Given the description of an element on the screen output the (x, y) to click on. 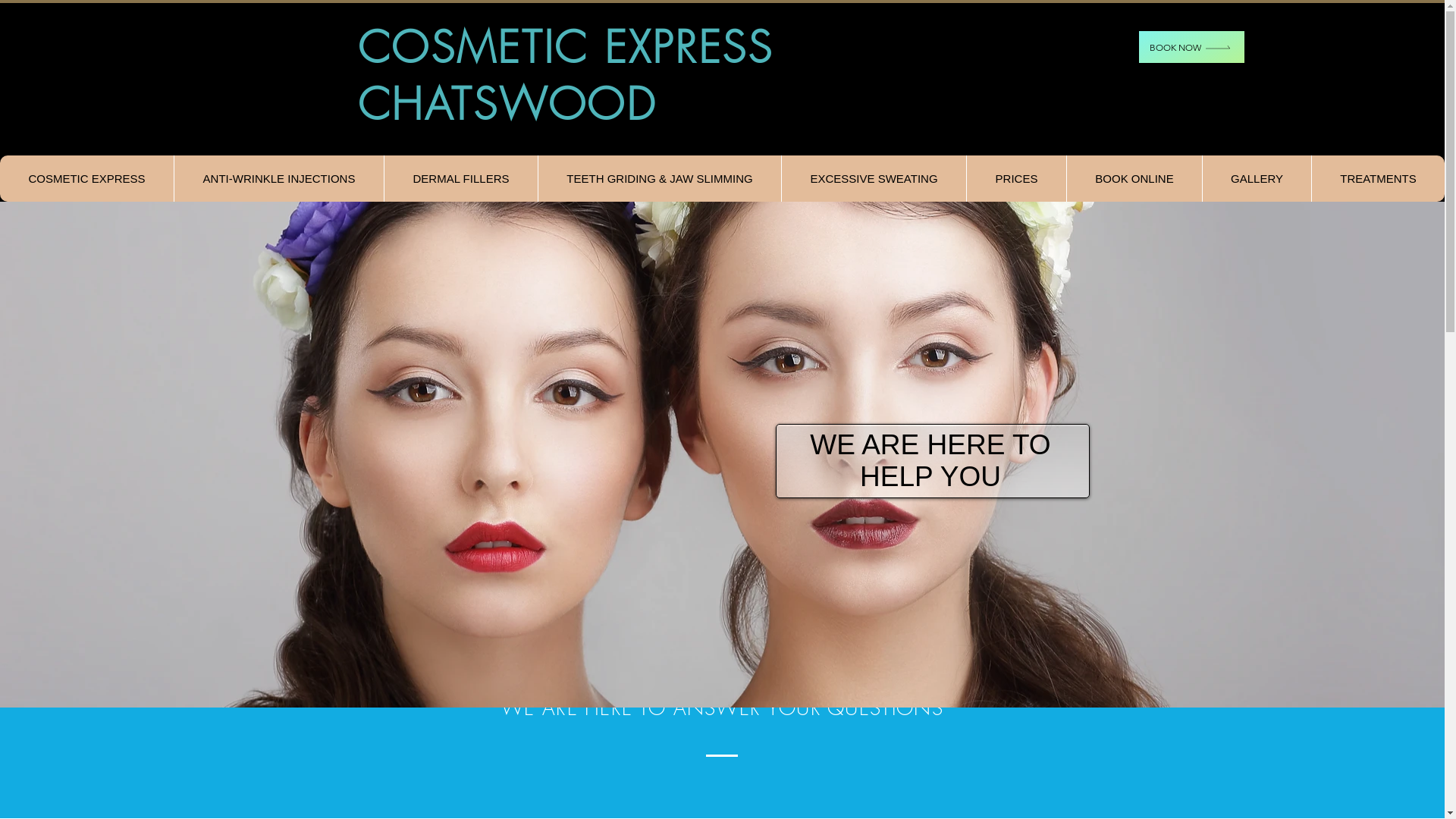
COSMETIC EXPRESS Element type: text (86, 178)
BOOK ONLINE Element type: text (1133, 178)
PRICES Element type: text (1016, 178)
DERMAL FILLERS Element type: text (460, 178)
TEETH GRIDING & JAW SLIMMING Element type: text (659, 178)
ANTI-WRINKLE INJECTIONS Element type: text (278, 178)
GALLERY Element type: text (1256, 178)
EXCESSIVE SWEATING Element type: text (873, 178)
BOOK NOW Element type: text (1191, 46)
